Given the description of an element on the screen output the (x, y) to click on. 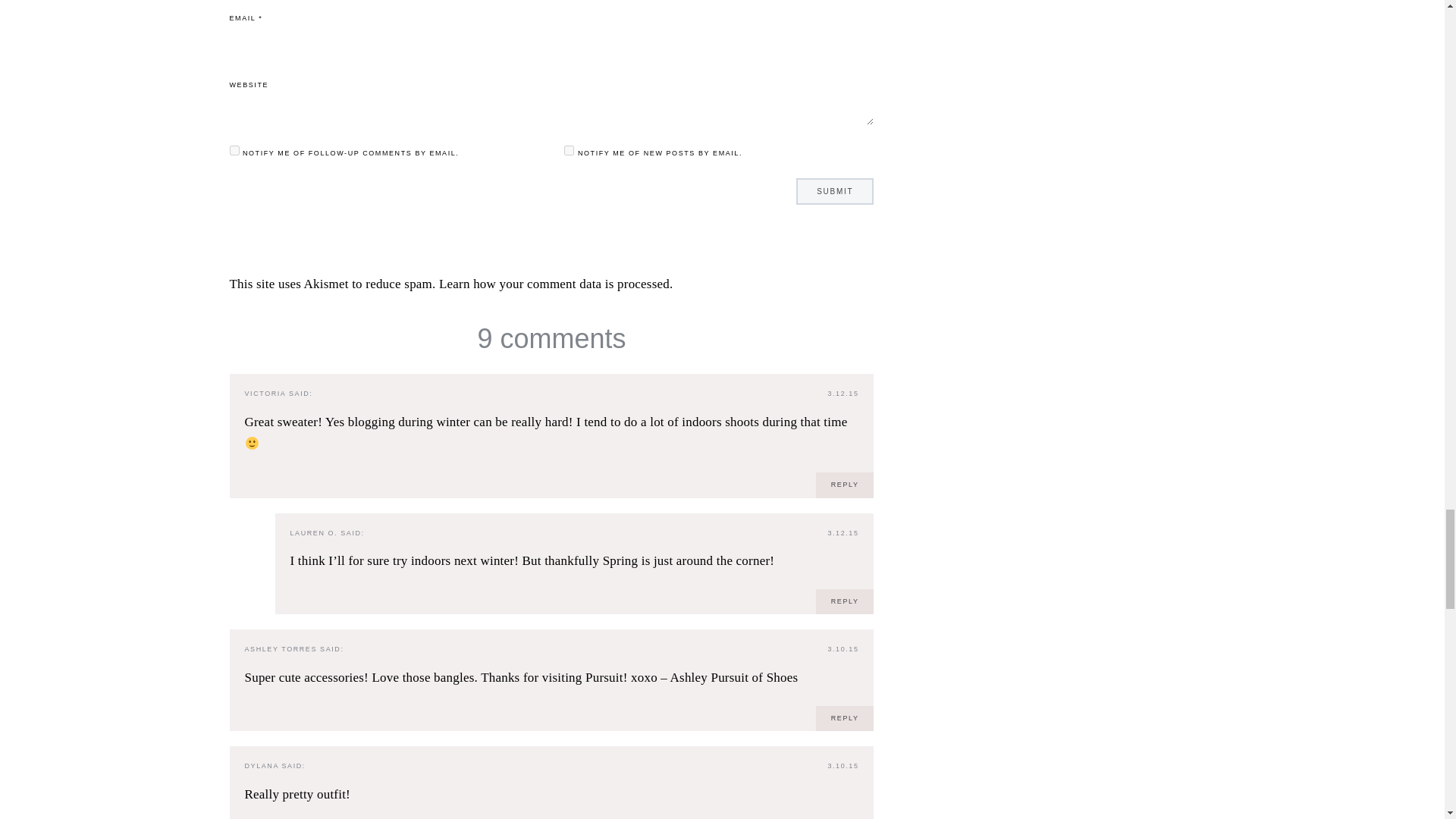
Submit (834, 191)
subscribe (233, 150)
subscribe (568, 150)
